Given the description of an element on the screen output the (x, y) to click on. 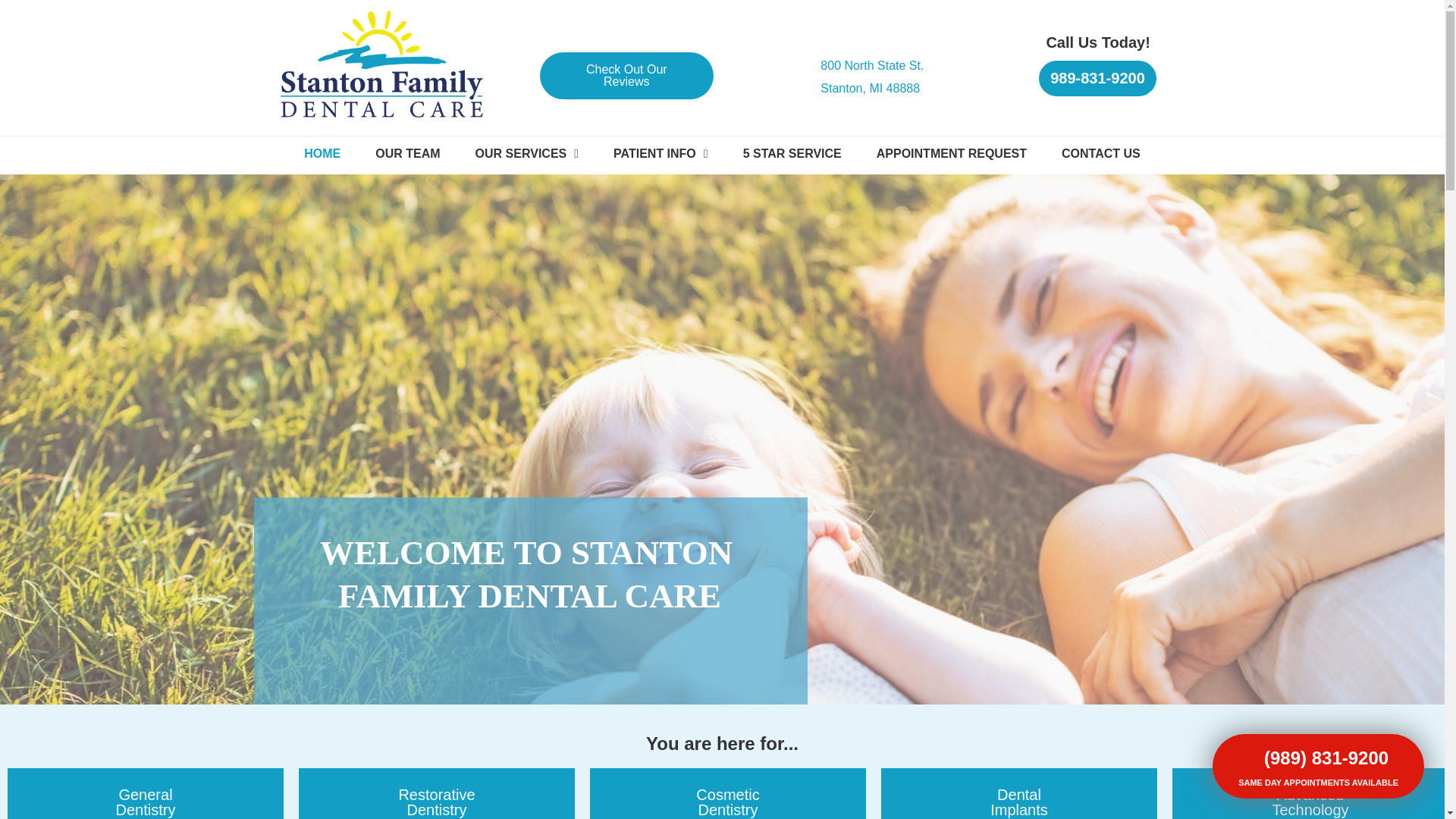
HOME (322, 153)
OUR SERVICES (872, 76)
Check Out Our Reviews (526, 153)
PATIENT INFO (627, 75)
APPOINTMENT REQUEST (660, 153)
Office Phone Number (951, 153)
989-831-9200 (1097, 78)
5 STAR SERVICE (1076, 78)
OUR TEAM (792, 153)
